Given the description of an element on the screen output the (x, y) to click on. 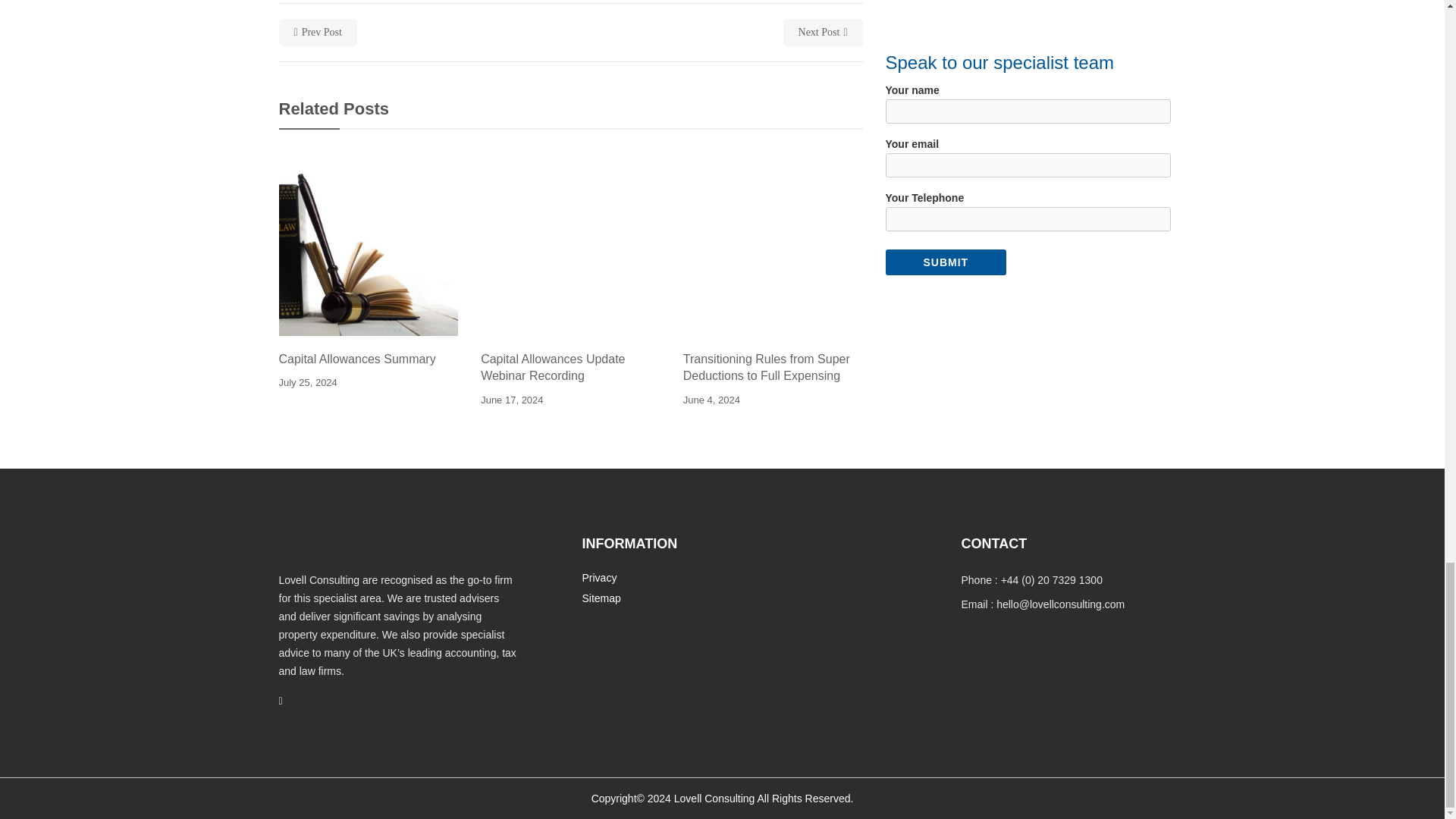
Capital Allowances Summary (368, 359)
Capital Allowances Update Webinar Recording (570, 367)
Transitioning Rules from Super Deductions to Full Expensing (772, 367)
Privacy (597, 577)
Next Post (823, 31)
Sitemap (600, 598)
Prev Post (317, 31)
